Given the description of an element on the screen output the (x, y) to click on. 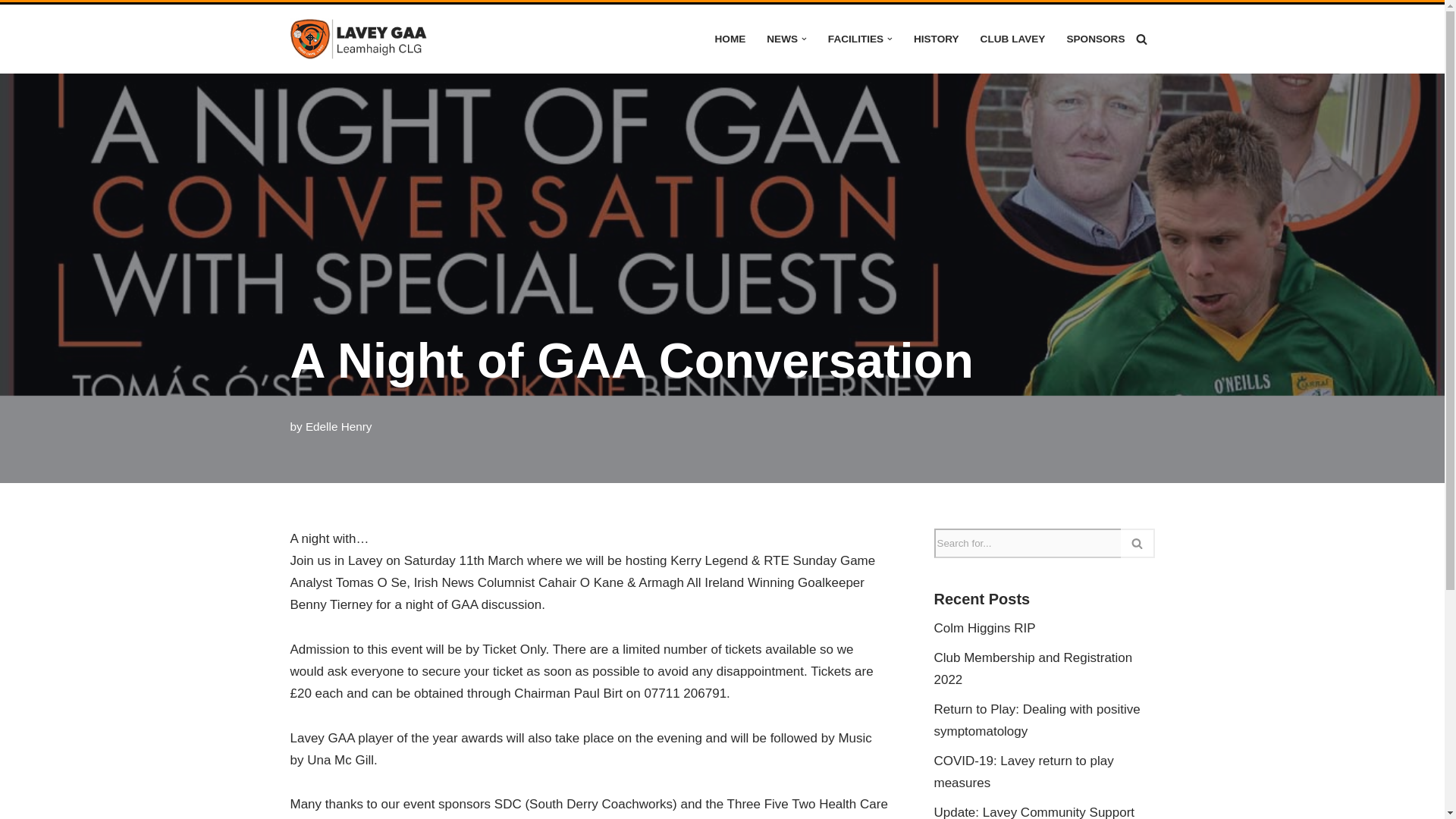
Edelle Henry (338, 426)
NEWS (782, 38)
CLUB LAVEY (1012, 38)
HOME (729, 38)
Posts by Edelle Henry (338, 426)
SPONSORS (1094, 38)
Skip to content (11, 36)
HISTORY (936, 38)
FACILITIES (855, 38)
